Given the description of an element on the screen output the (x, y) to click on. 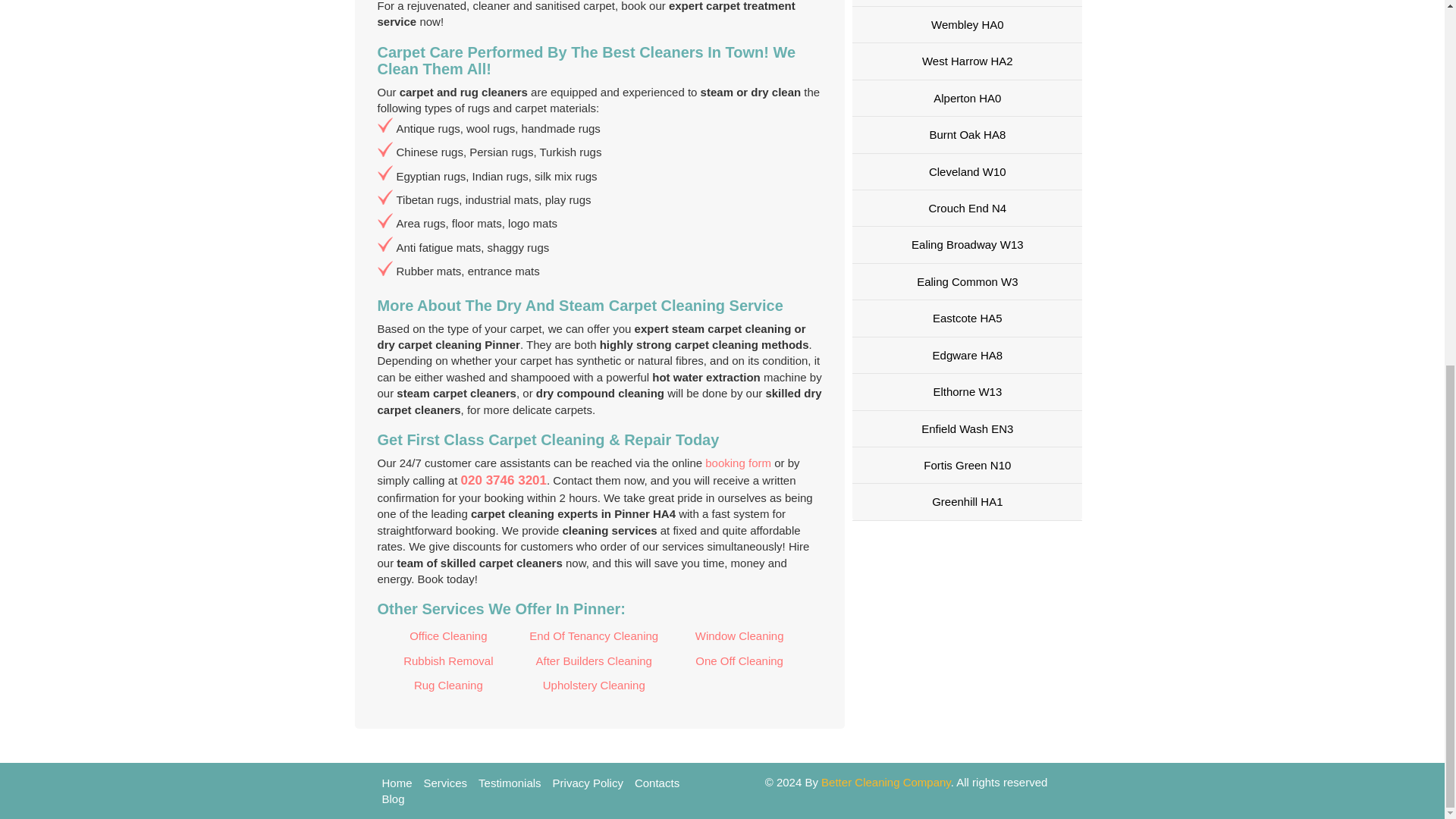
Office Cleaning (448, 636)
End Of Tenancy Cleaning (593, 636)
Upholstery Cleaning (593, 685)
One Off Cleaning (739, 661)
Rug Cleaning (448, 685)
After Builders Cleaning (593, 661)
Rubbish Removal (448, 661)
Window Cleaning (739, 636)
booking form (737, 462)
020 3746 3201 (504, 480)
